Given the description of an element on the screen output the (x, y) to click on. 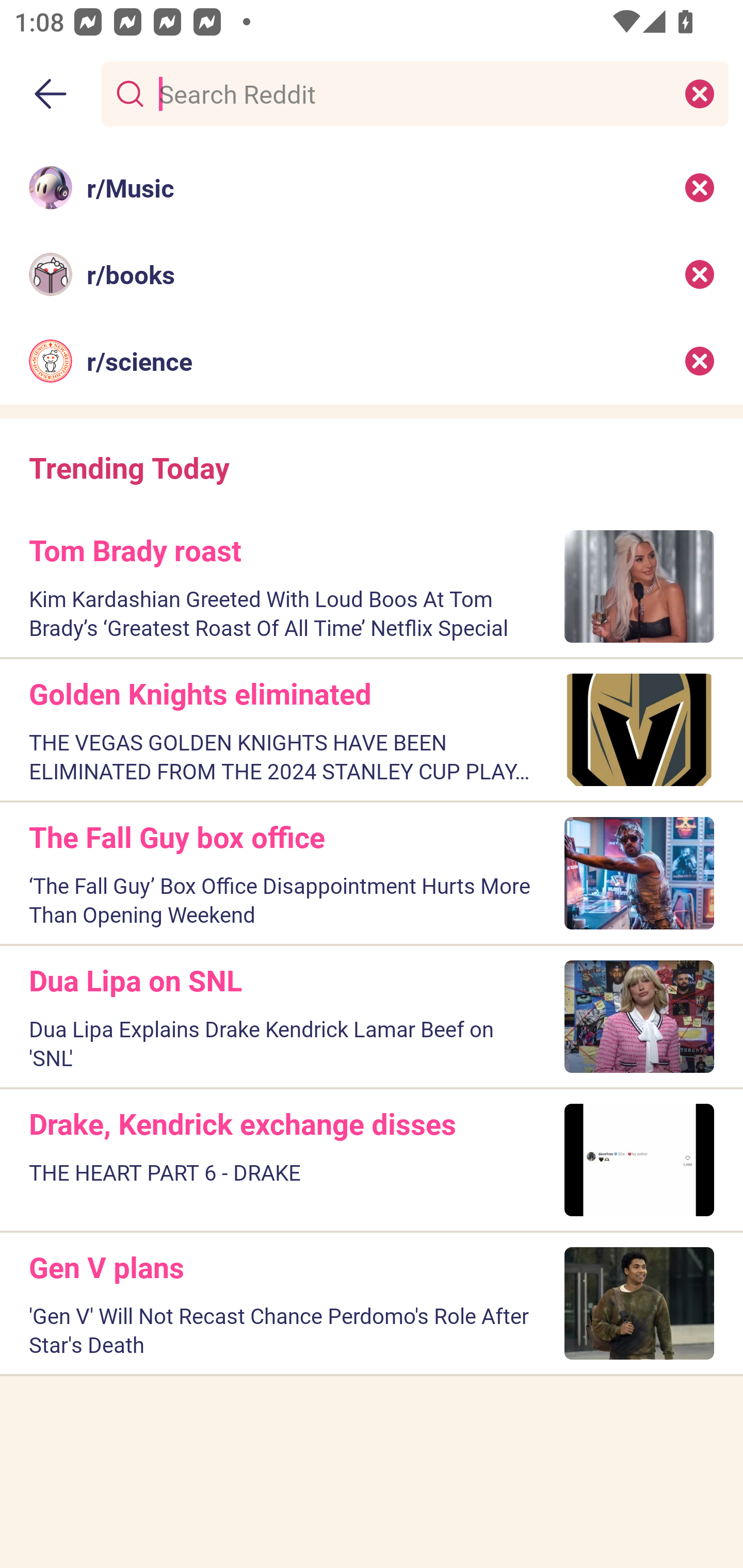
Back (50, 93)
Search Reddit (410, 93)
Clear search (699, 93)
r/Music Recent search: r/Music Remove (371, 187)
Remove (699, 187)
r/books Recent search: r/books Remove (371, 274)
Remove (699, 274)
r/science Recent search: r/science Remove (371, 361)
Remove (699, 361)
